Given the description of an element on the screen output the (x, y) to click on. 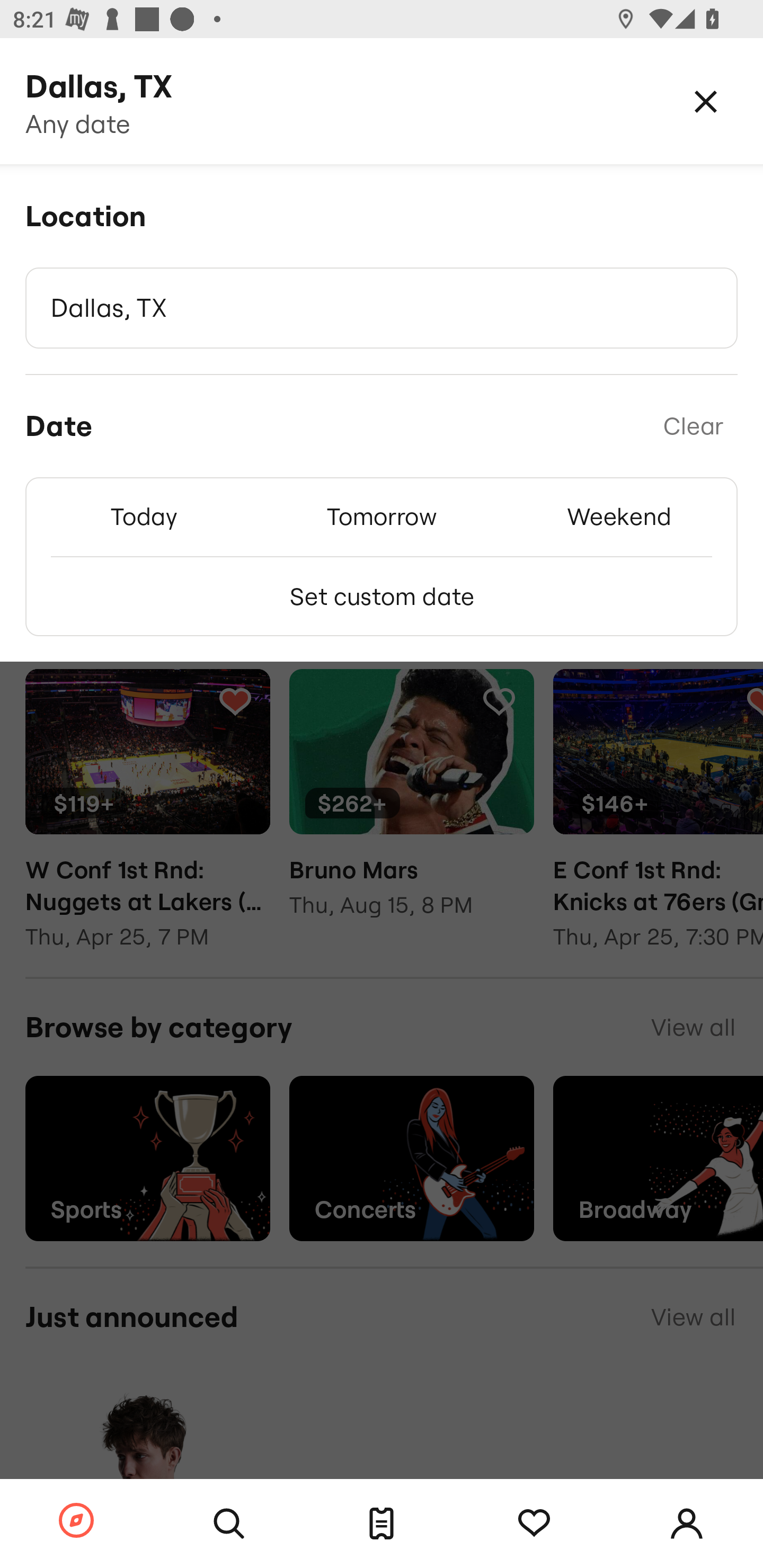
Close (705, 100)
Dallas, TX (381, 308)
Clear (693, 426)
Today (143, 516)
Tomorrow (381, 516)
Weekend (618, 516)
Set custom date (381, 596)
Browse (76, 1521)
Search (228, 1523)
Tickets (381, 1523)
Tracking (533, 1523)
Account (686, 1523)
